Given the description of an element on the screen output the (x, y) to click on. 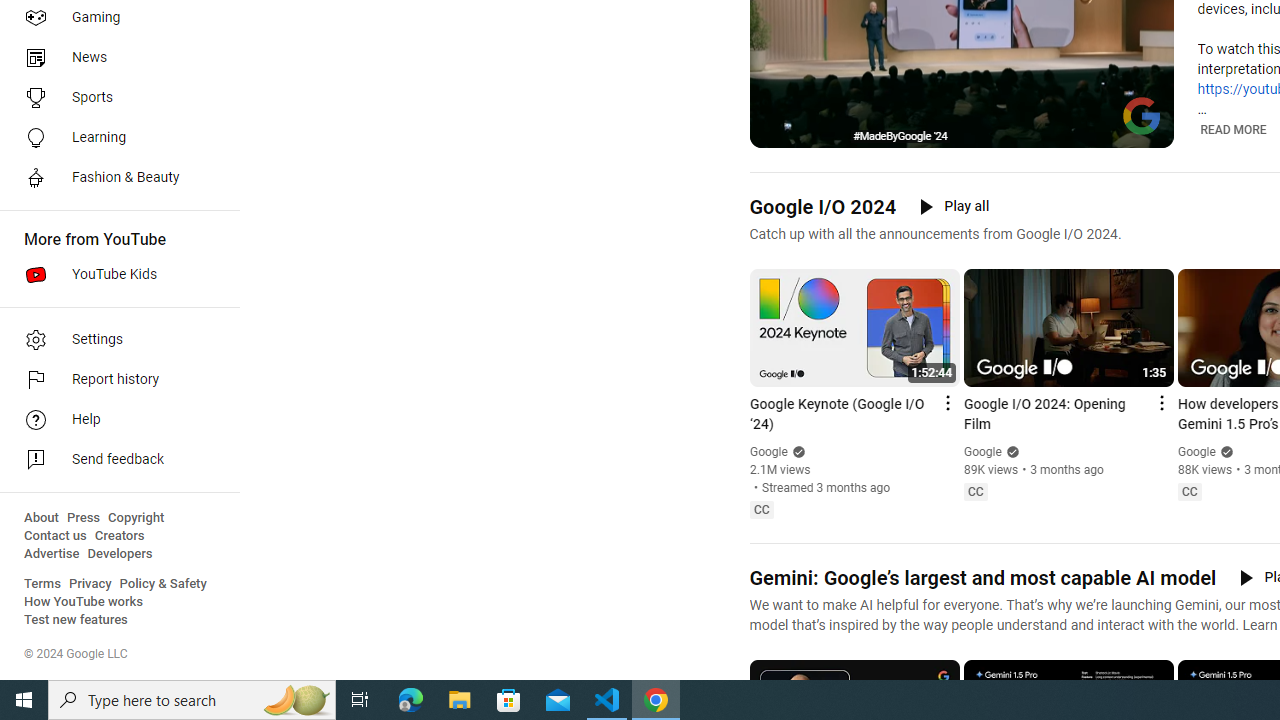
Mute (m) (815, 130)
Pause (k) (779, 130)
Full screen (f) (1143, 130)
READ MORE (1232, 129)
Send feedback (113, 459)
Contact us (55, 536)
Report history (113, 380)
YouTube Kids (113, 274)
How YouTube works (83, 602)
Play all (954, 206)
